Given the description of an element on the screen output the (x, y) to click on. 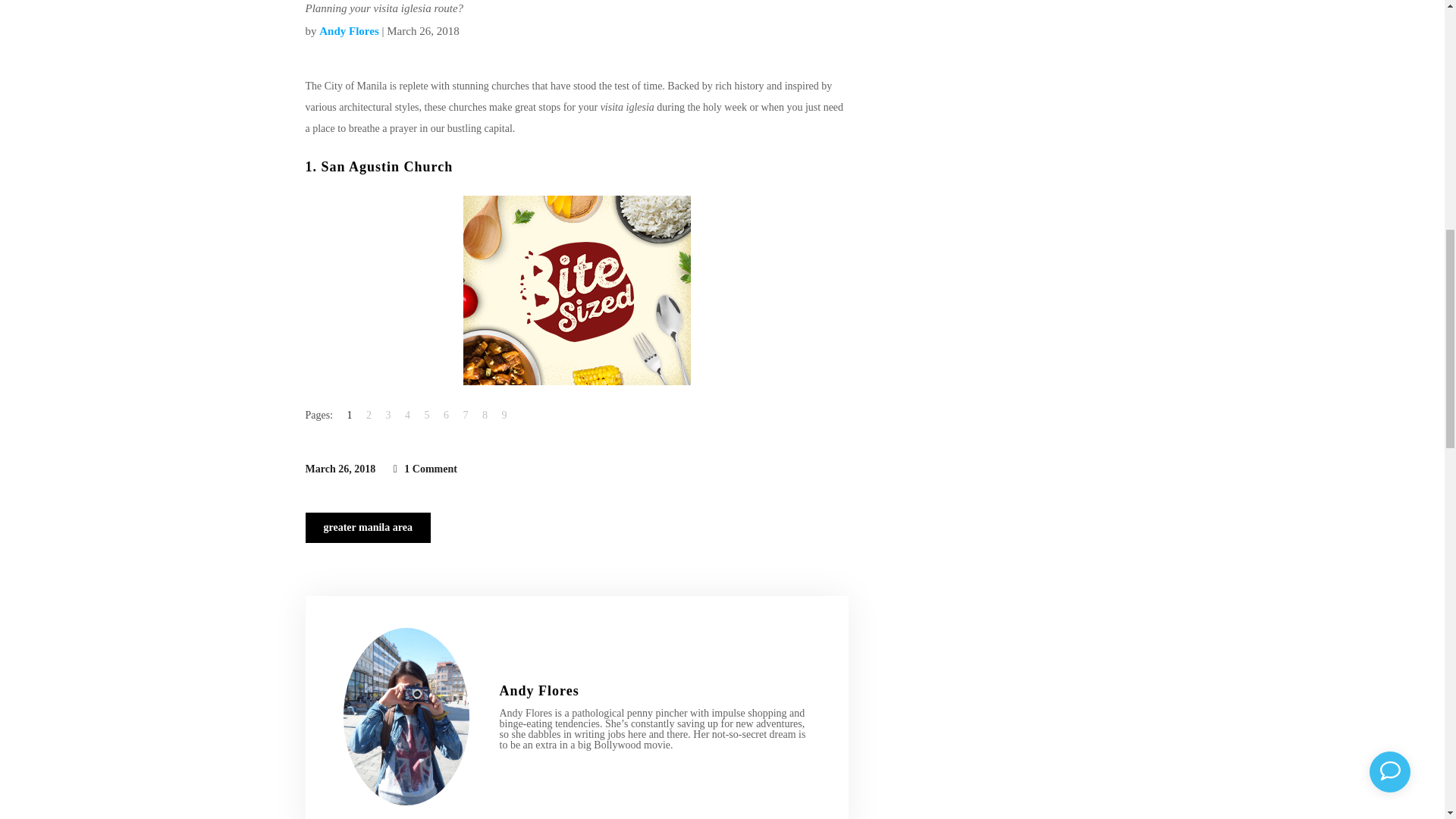
Revisit These Beautiful Churches in Old Manila (538, 690)
Posts by Andy Flores (348, 30)
